Given the description of an element on the screen output the (x, y) to click on. 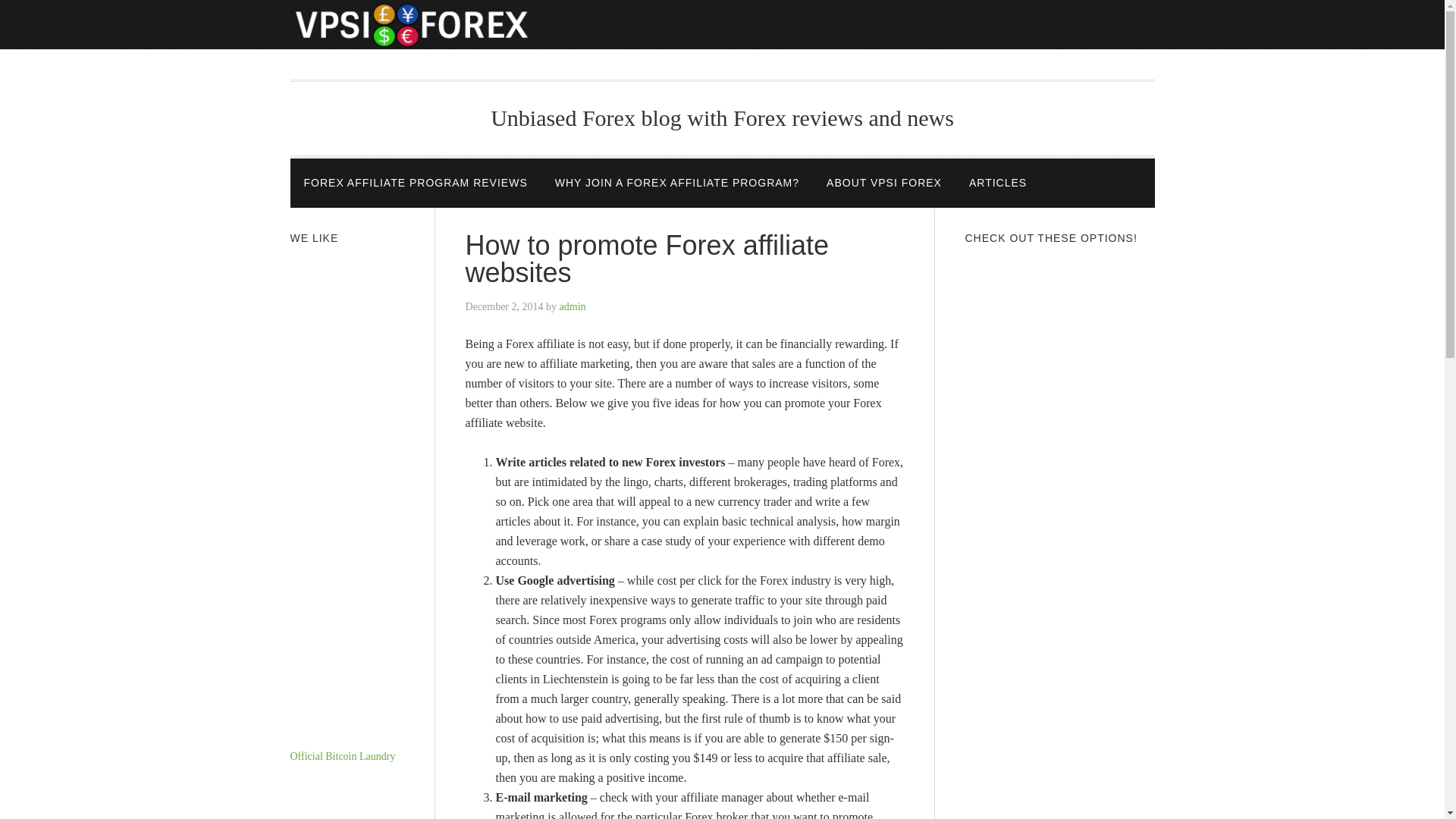
WHY JOIN A FOREX AFFILIATE PROGRAM? (676, 183)
ARTICLES (998, 183)
admin (572, 306)
FOREX AFFILIATE PROGRAM REVIEWS (414, 183)
ABOUT VPSI FOREX (883, 183)
Official Bitcoin Laundry (341, 756)
How to promote Forex affiliate websites (647, 259)
